Given the description of an element on the screen output the (x, y) to click on. 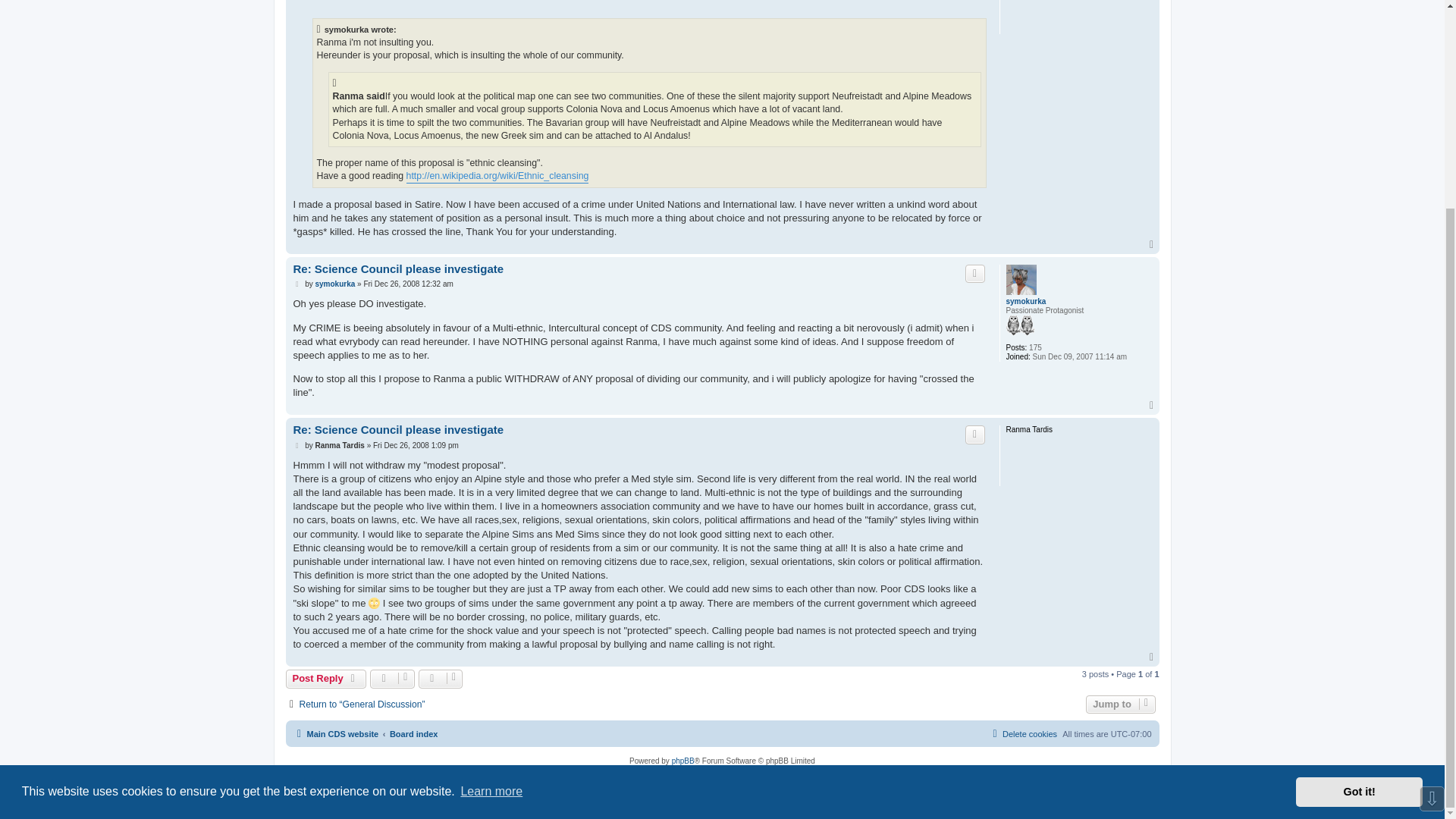
Quote (975, 434)
symokurka (1025, 301)
Top (1151, 405)
Got it! (1358, 521)
Post (297, 445)
Re: Science Council please investigate (397, 269)
Learn more (491, 522)
Quote (975, 273)
